Given the description of an element on the screen output the (x, y) to click on. 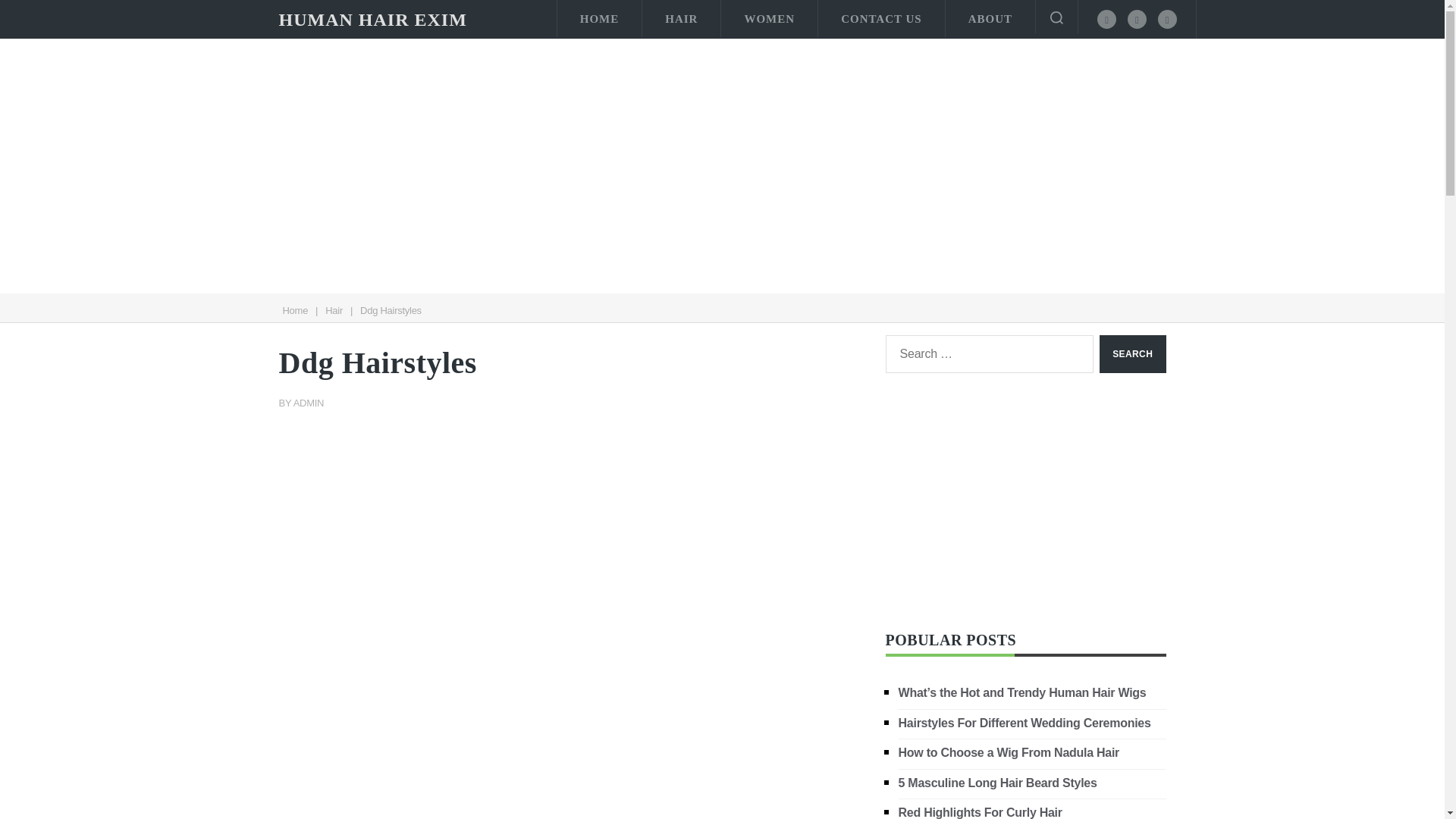
Search (1132, 353)
Home (294, 310)
Advertisement (1025, 501)
CONTACT US (881, 18)
WOMEN (768, 18)
Search (1132, 353)
Hair (333, 310)
Posts by Mark Hughman (309, 402)
Google Plus G (1166, 18)
HUMAN HAIR EXIM (373, 19)
Search (1132, 353)
Twitter (1136, 18)
Advertisement (571, 755)
HAIR (681, 18)
